Given the description of an element on the screen output the (x, y) to click on. 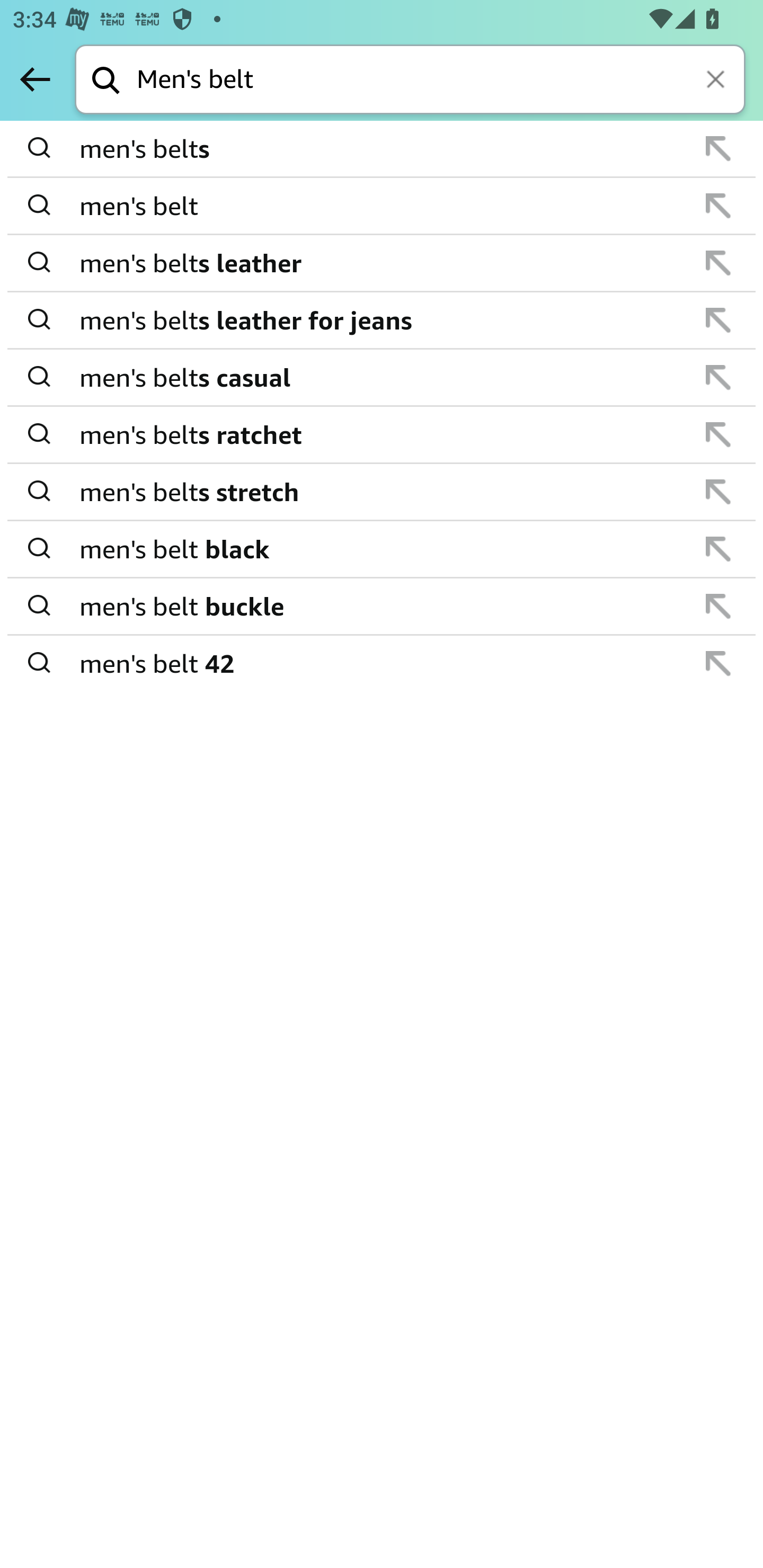
Men's belt (440, 80)
Clear search keywords (717, 80)
Back (35, 78)
append suggestion men's belts (381, 149)
men's belts (382, 149)
append suggestion (718, 147)
men's belt (382, 205)
append suggestion men's belt (381, 206)
append suggestion (718, 205)
men's belts leather (382, 262)
append suggestion men's belts leather (381, 263)
append suggestion (718, 262)
men's belts leather for jeans (382, 319)
append suggestion men's belts leather for jeans (381, 320)
append suggestion (718, 319)
men's belts casual (382, 377)
append suggestion men's belts casual (381, 377)
append suggestion (718, 376)
men's belts ratchet (382, 434)
append suggestion men's belts ratchet (381, 435)
append suggestion (718, 434)
men's belts stretch (382, 491)
append suggestion men's belts stretch (381, 492)
append suggestion (718, 491)
men's belt black (382, 548)
append suggestion men's belt black (381, 549)
append suggestion (718, 548)
men's belt buckle (382, 606)
append suggestion men's belt buckle (381, 606)
append suggestion (718, 605)
men's belt 42 (382, 662)
append suggestion men's belt 42 (381, 663)
append suggestion (718, 663)
